Given the description of an element on the screen output the (x, y) to click on. 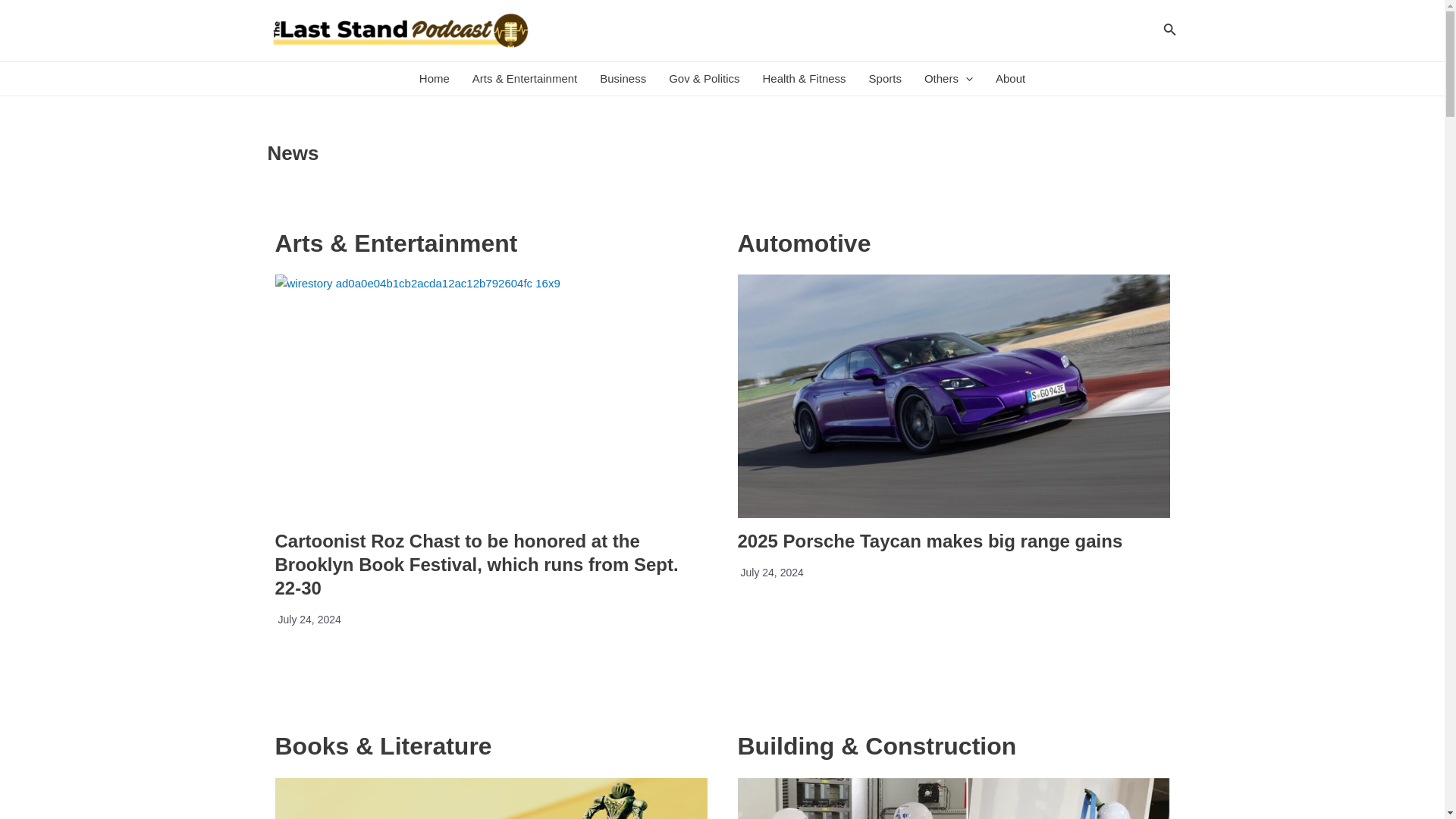
Home (434, 78)
Business (623, 78)
About (1010, 78)
Sports (884, 78)
Others (948, 78)
